Given the description of an element on the screen output the (x, y) to click on. 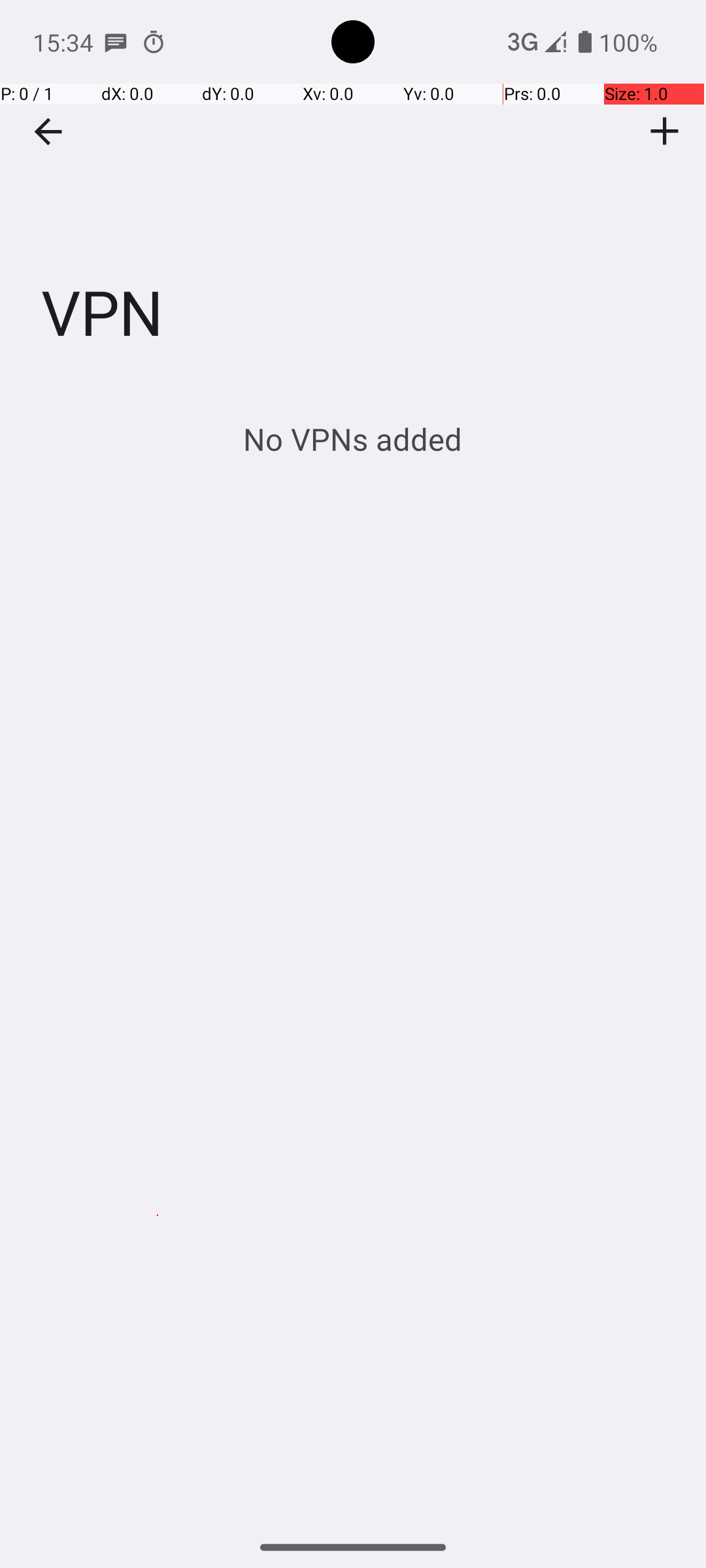
No VPNs added Element type: android.widget.TextView (352, 438)
Add VPN profile Element type: android.widget.TextView (664, 131)
